Given the description of an element on the screen output the (x, y) to click on. 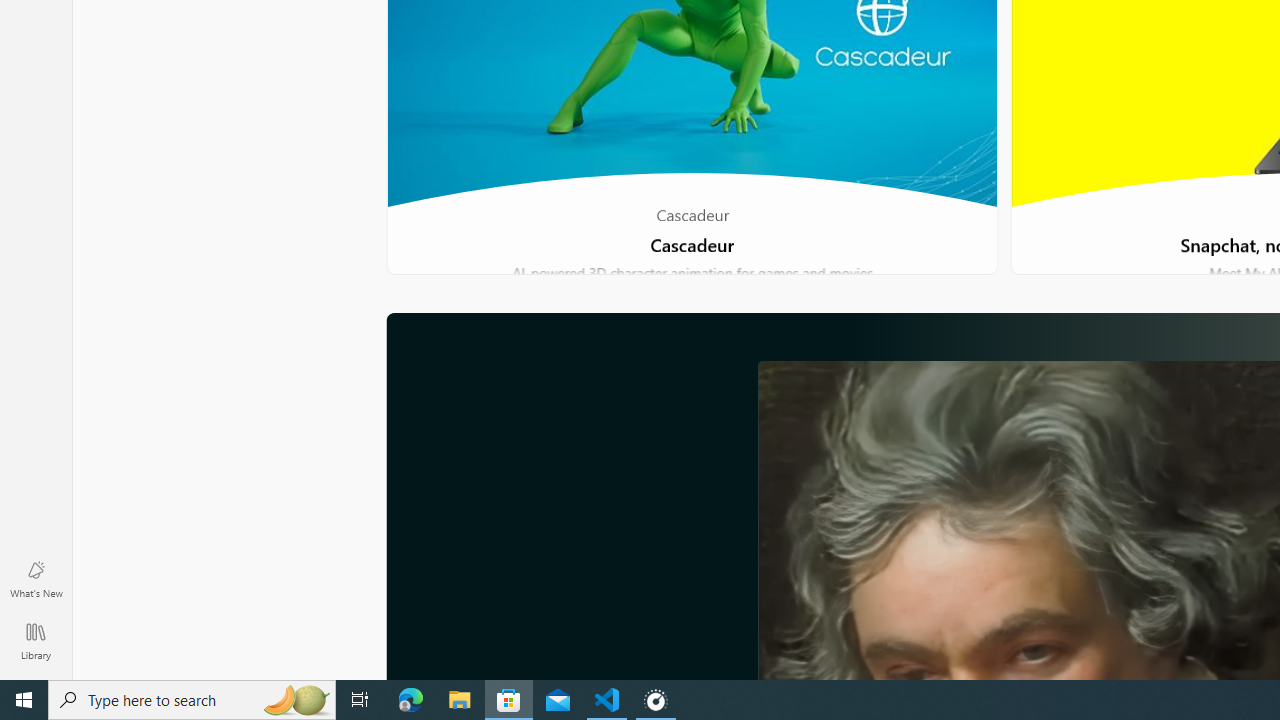
What's New (35, 578)
Library (35, 640)
